Given the description of an element on the screen output the (x, y) to click on. 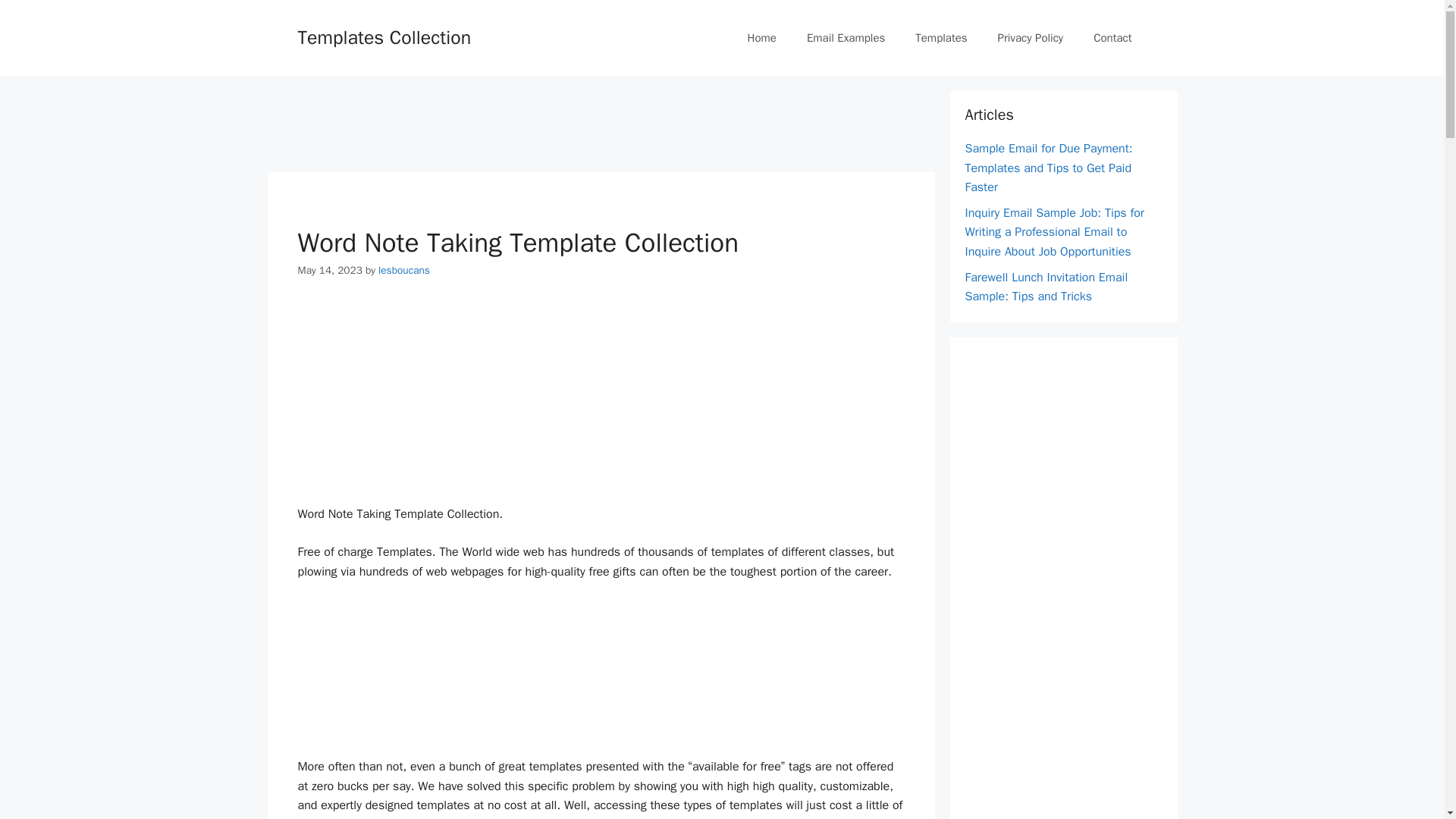
Privacy Policy (1030, 37)
View all posts by lesboucans (403, 269)
Advertisement (1077, 579)
Home (762, 37)
Email Examples (845, 37)
Farewell Lunch Invitation Email Sample: Tips and Tricks (1044, 287)
Contact (1112, 37)
lesboucans (403, 269)
Advertisement (542, 124)
Advertisement (600, 675)
Templates (940, 37)
Advertisement (600, 398)
Templates Collection (383, 37)
